Given the description of an element on the screen output the (x, y) to click on. 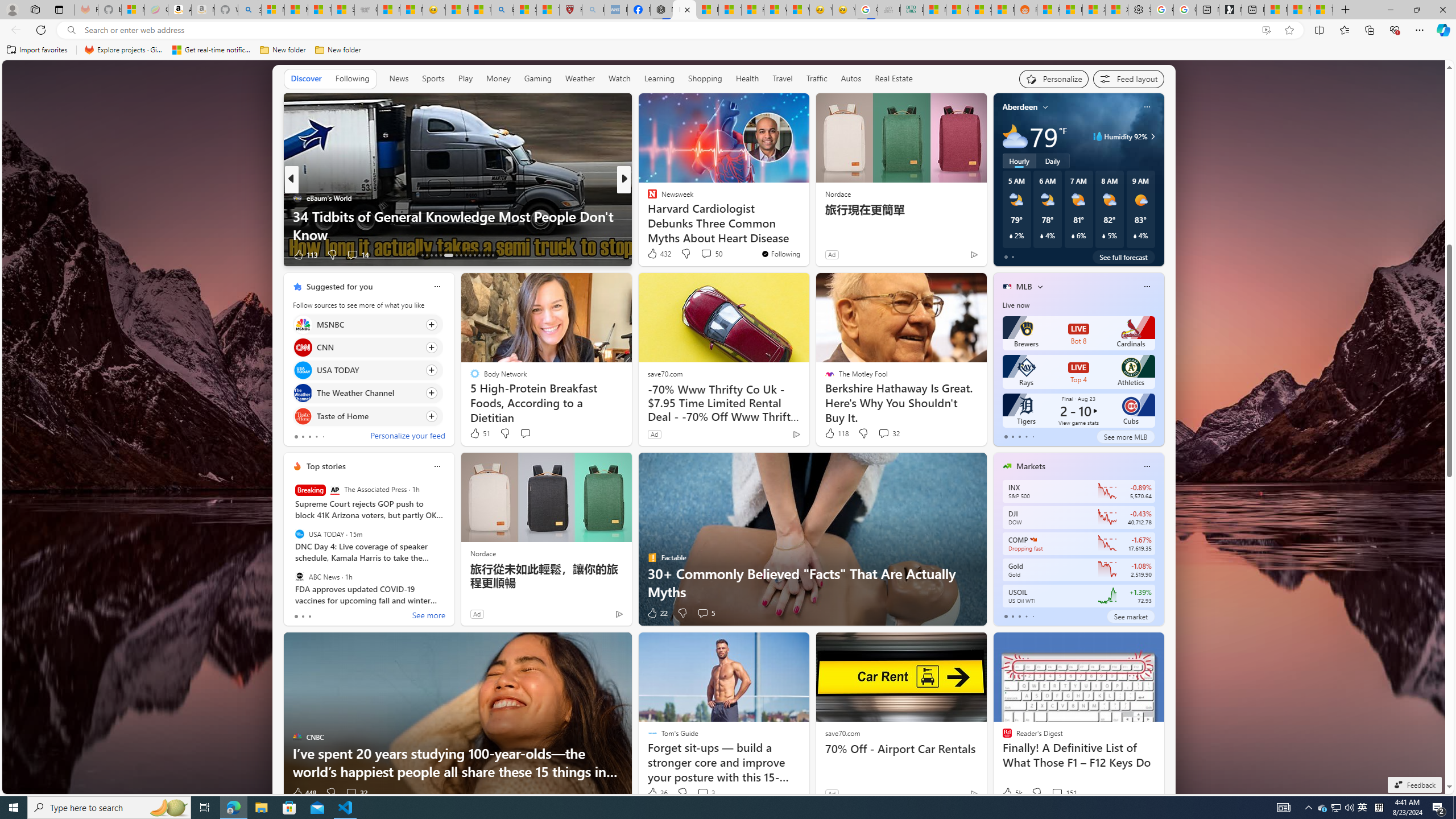
AutomationID: tab-74 (465, 255)
Feed settings (1128, 78)
Mostly cloudy (1014, 136)
Body Network (647, 215)
Irish Star (647, 215)
These 3 Stocks Pay You More Than 5% to Own Them (1321, 9)
Health (746, 79)
save70.com (842, 732)
Autos (851, 78)
View comments 151 Comment (1056, 792)
MSNBC (302, 324)
